Given the description of an element on the screen output the (x, y) to click on. 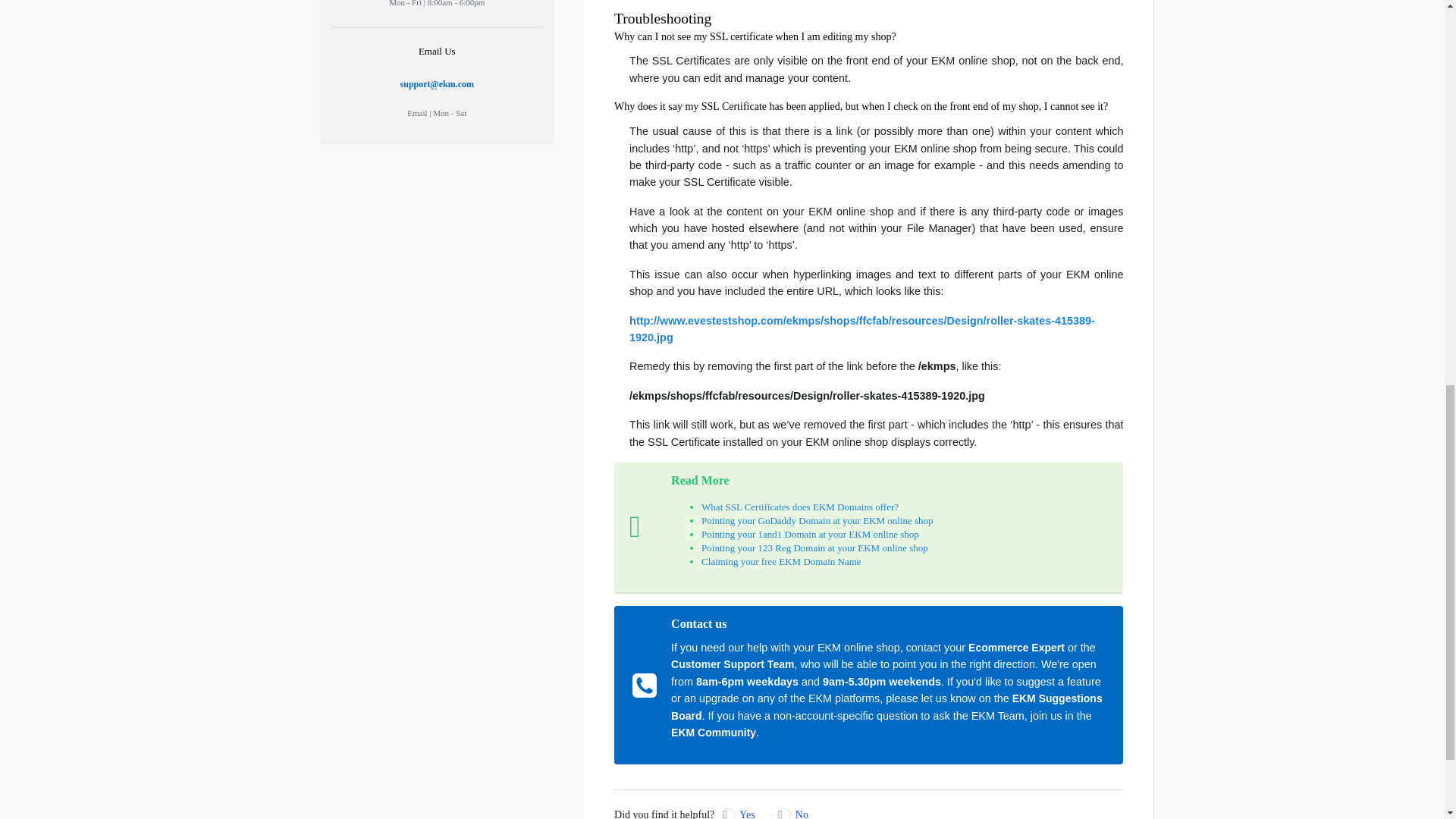
Pointing your GoDaddy Domain at your EKM online shop (817, 520)
What SSL Certificates does EKM Domains offer? (799, 506)
Pointing your 1and1 Domain at your EKM online shop (809, 533)
Claiming your free EKM Domain Name (780, 561)
Customer Support Team (732, 664)
EKM Suggestions Board (886, 706)
Ecommerce Expert (1016, 647)
Pointing your 123 Reg Domain at your EKM online shop (814, 547)
